Given the description of an element on the screen output the (x, y) to click on. 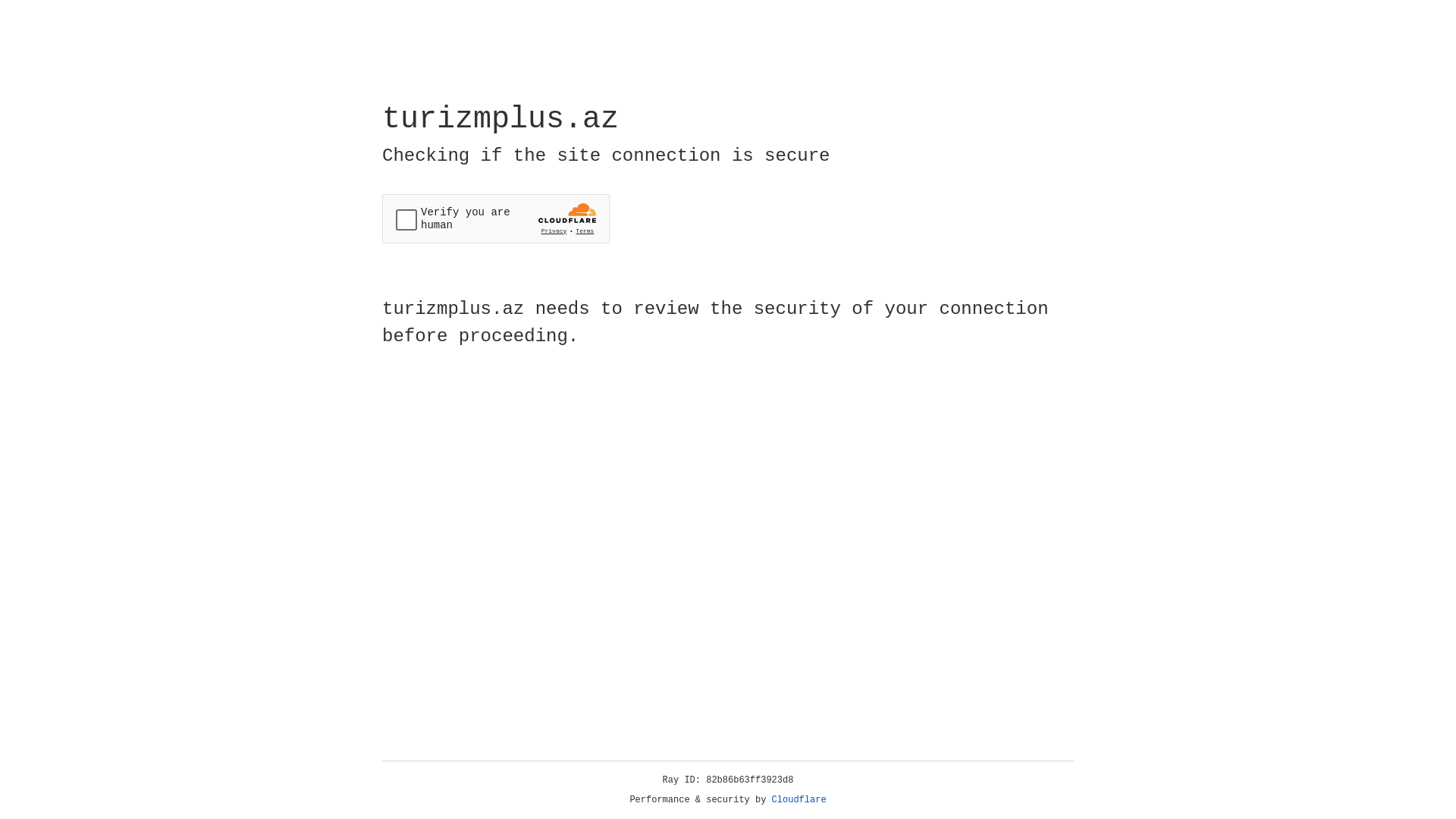
Cloudflare Element type: text (798, 799)
Widget containing a Cloudflare security challenge Element type: hover (495, 218)
